Given the description of an element on the screen output the (x, y) to click on. 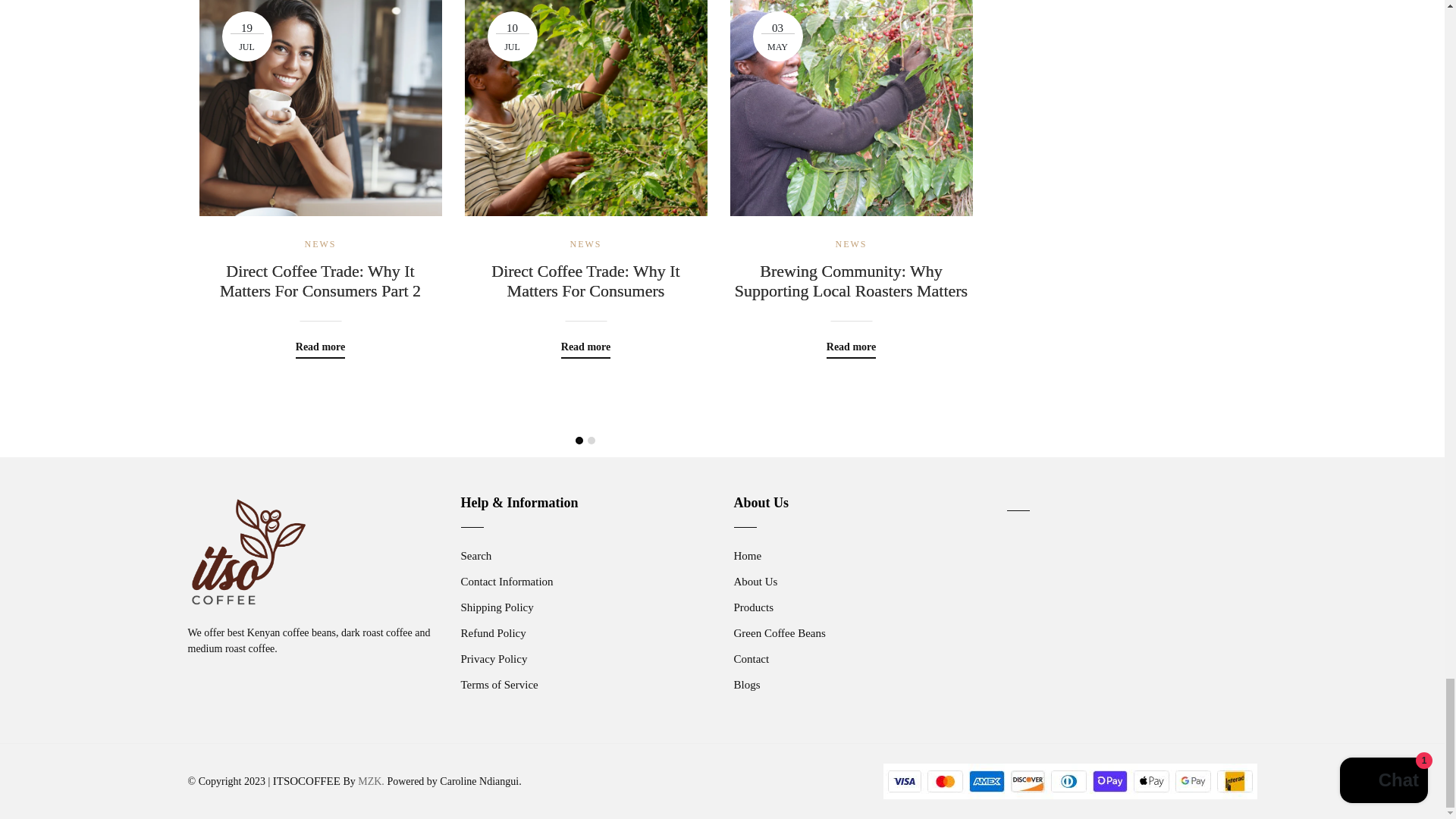
Direct Coffee Trade: Why It Matters for Consumers (585, 281)
Direct Coffee Trade: Why It Matters for Consumers Part 2 (319, 281)
Brewing Community: Why Supporting Local Roasters Matters (850, 281)
